Given the description of an element on the screen output the (x, y) to click on. 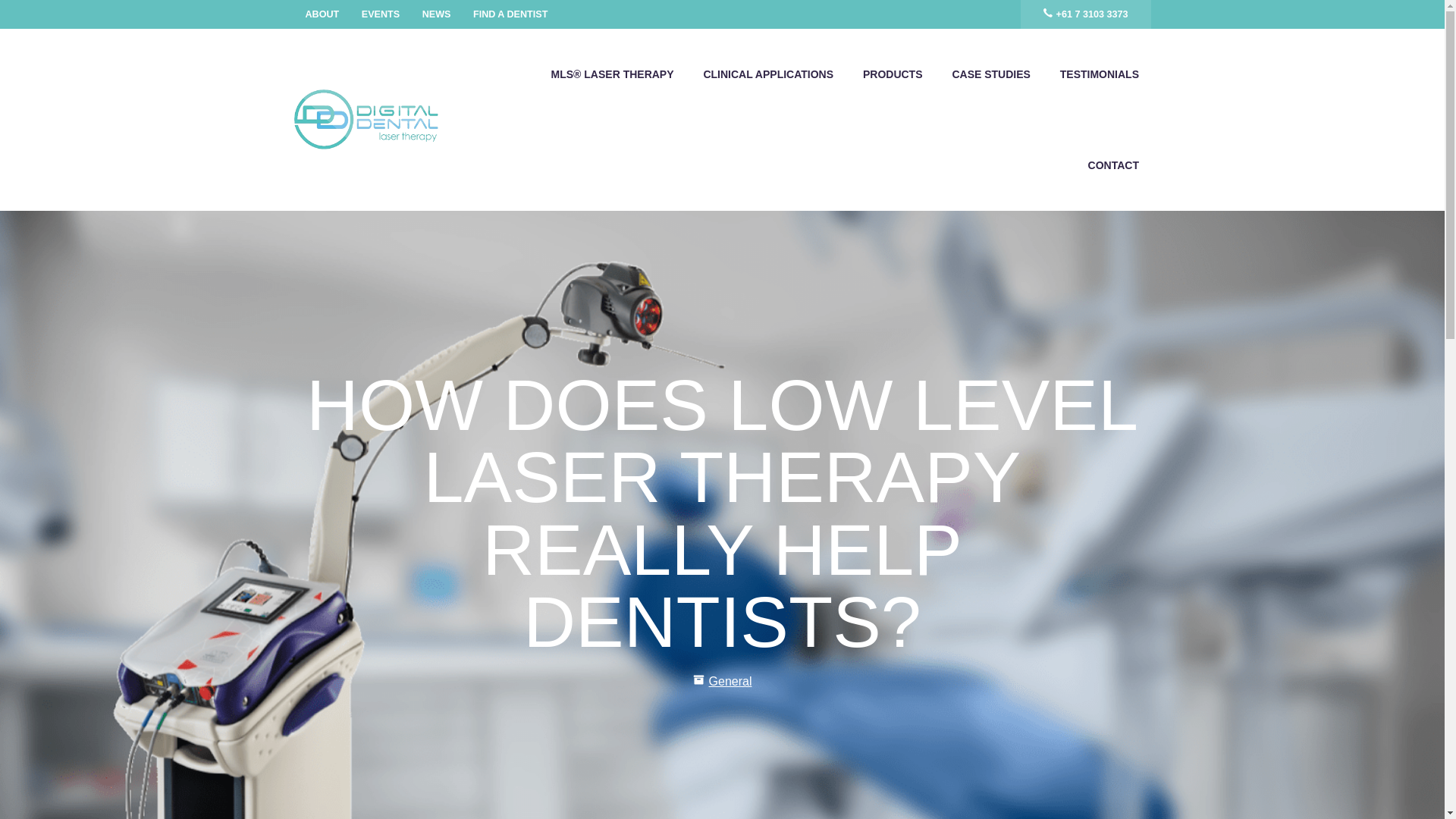
ABOUT Element type: text (322, 14)
TESTIMONIALS Element type: text (1098, 73)
PHONE-REV+61 7 3103 3373 Element type: text (1085, 14)
General Element type: text (730, 680)
FIND A DENTIST Element type: text (509, 14)
CLINICAL APPLICATIONS Element type: text (768, 73)
CASE STUDIES Element type: text (990, 73)
CONTACT Element type: text (1113, 164)
NEWS Element type: text (436, 14)
PRODUCTS Element type: text (892, 73)
EVENTS Element type: text (380, 14)
